Given the description of an element on the screen output the (x, y) to click on. 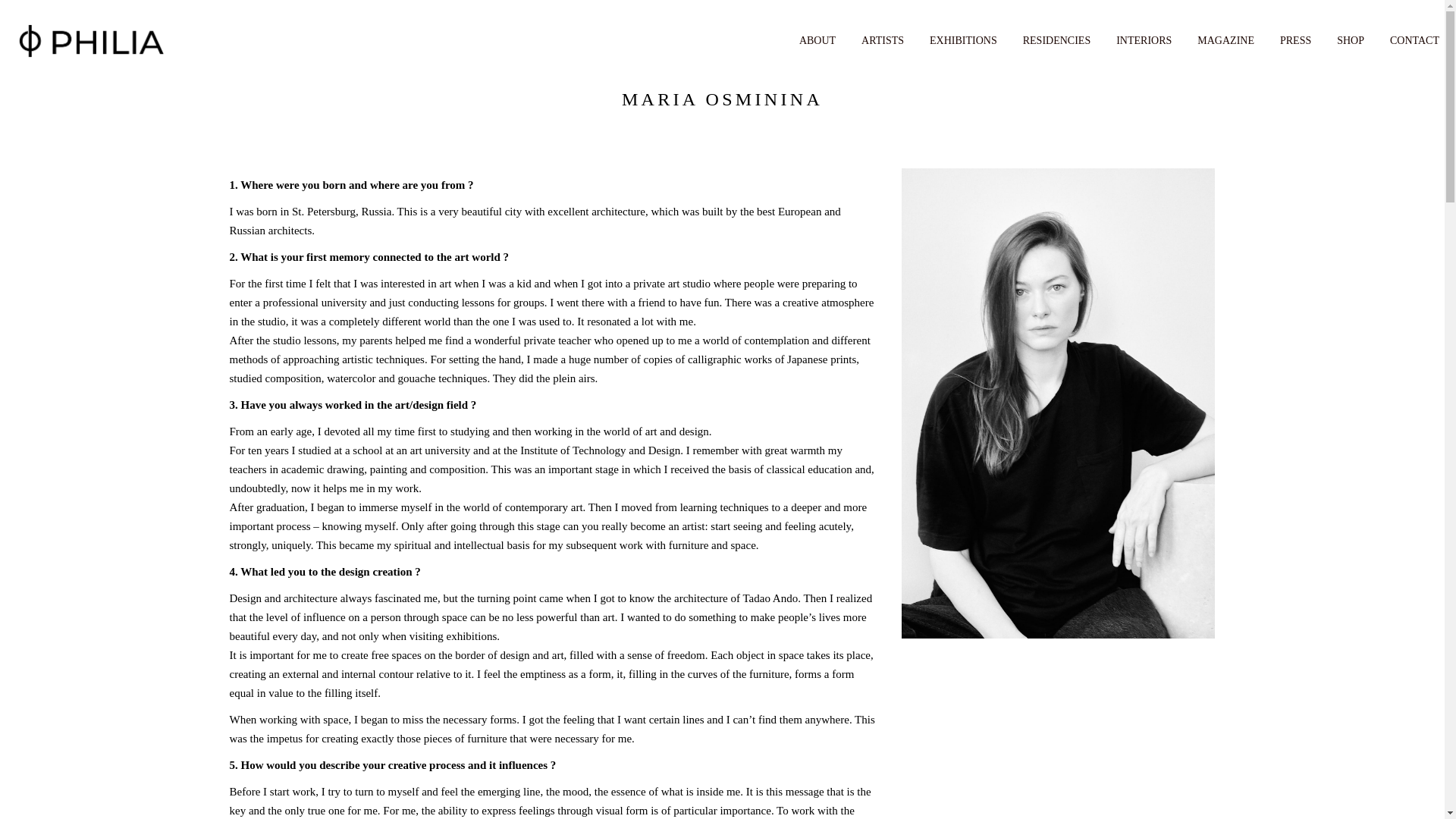
PRESS (1294, 39)
ARTISTS (882, 39)
ABOUT (817, 39)
SHOP (1350, 39)
MAGAZINE (1225, 39)
INTERIORS (1144, 39)
RESIDENCIES (1056, 39)
EXHIBITIONS (963, 39)
